Given the description of an element on the screen output the (x, y) to click on. 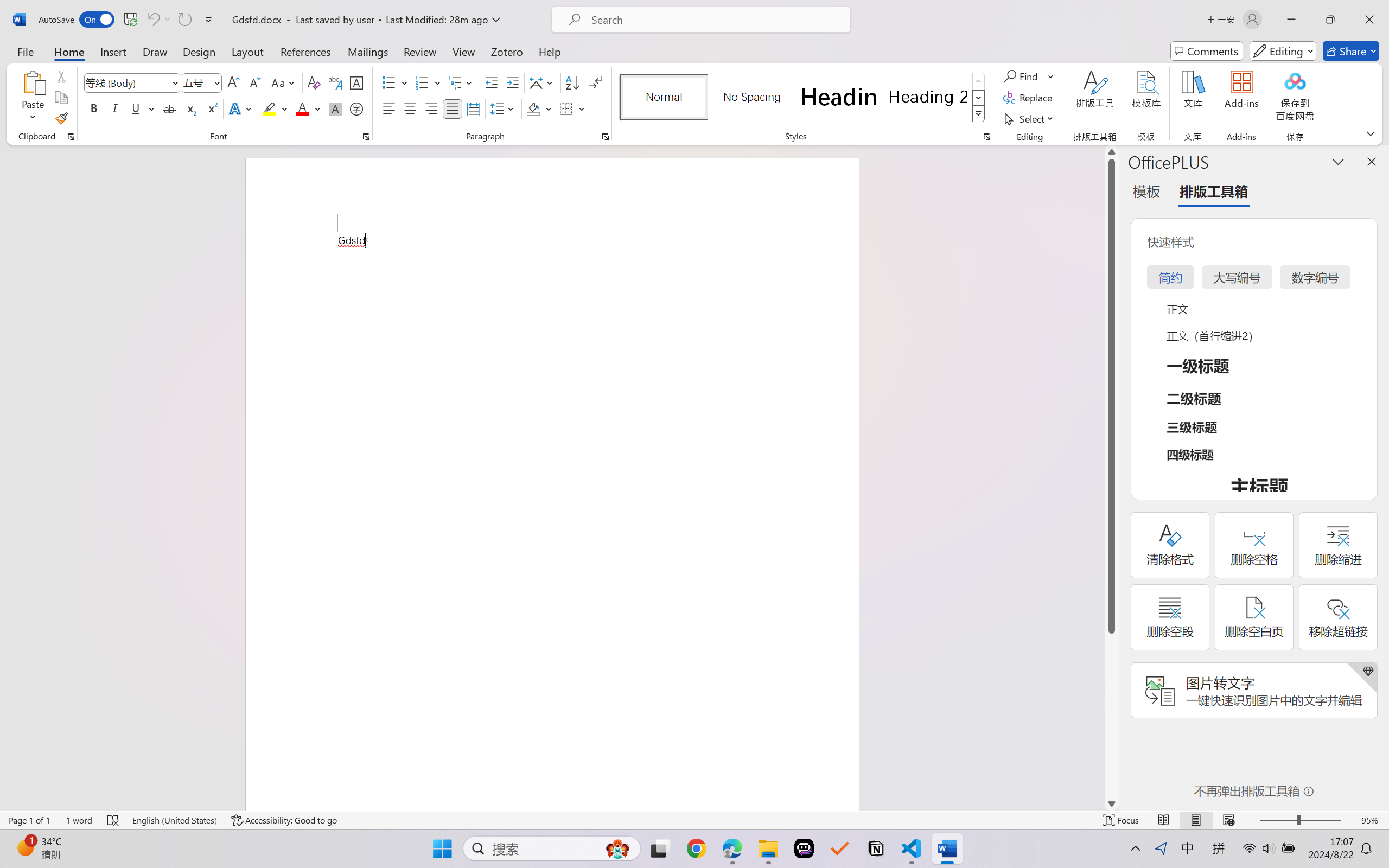
Line down (1111, 803)
